Given the description of an element on the screen output the (x, y) to click on. 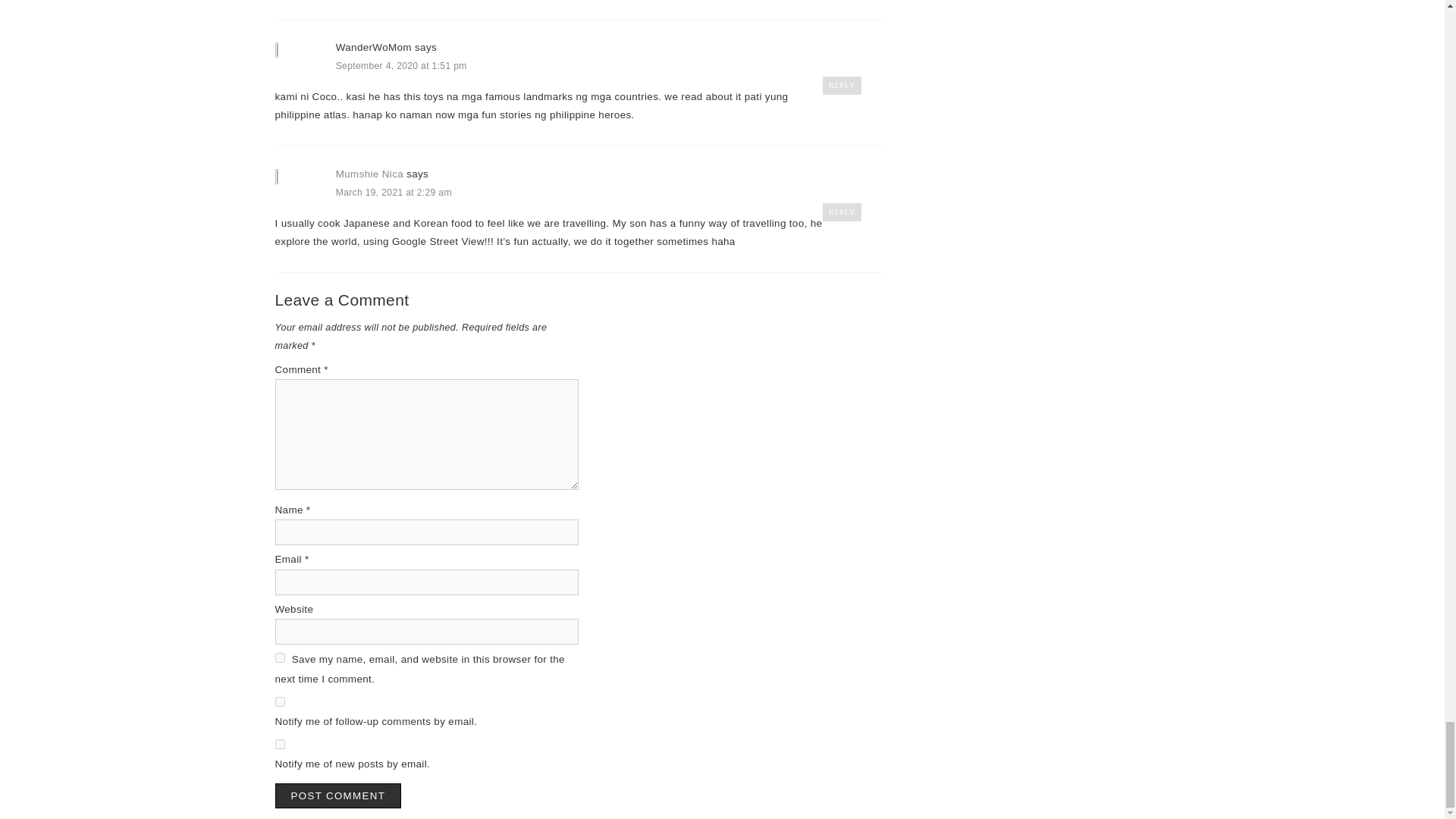
yes (279, 657)
Post Comment (338, 795)
subscribe (279, 701)
subscribe (279, 744)
